Given the description of an element on the screen output the (x, y) to click on. 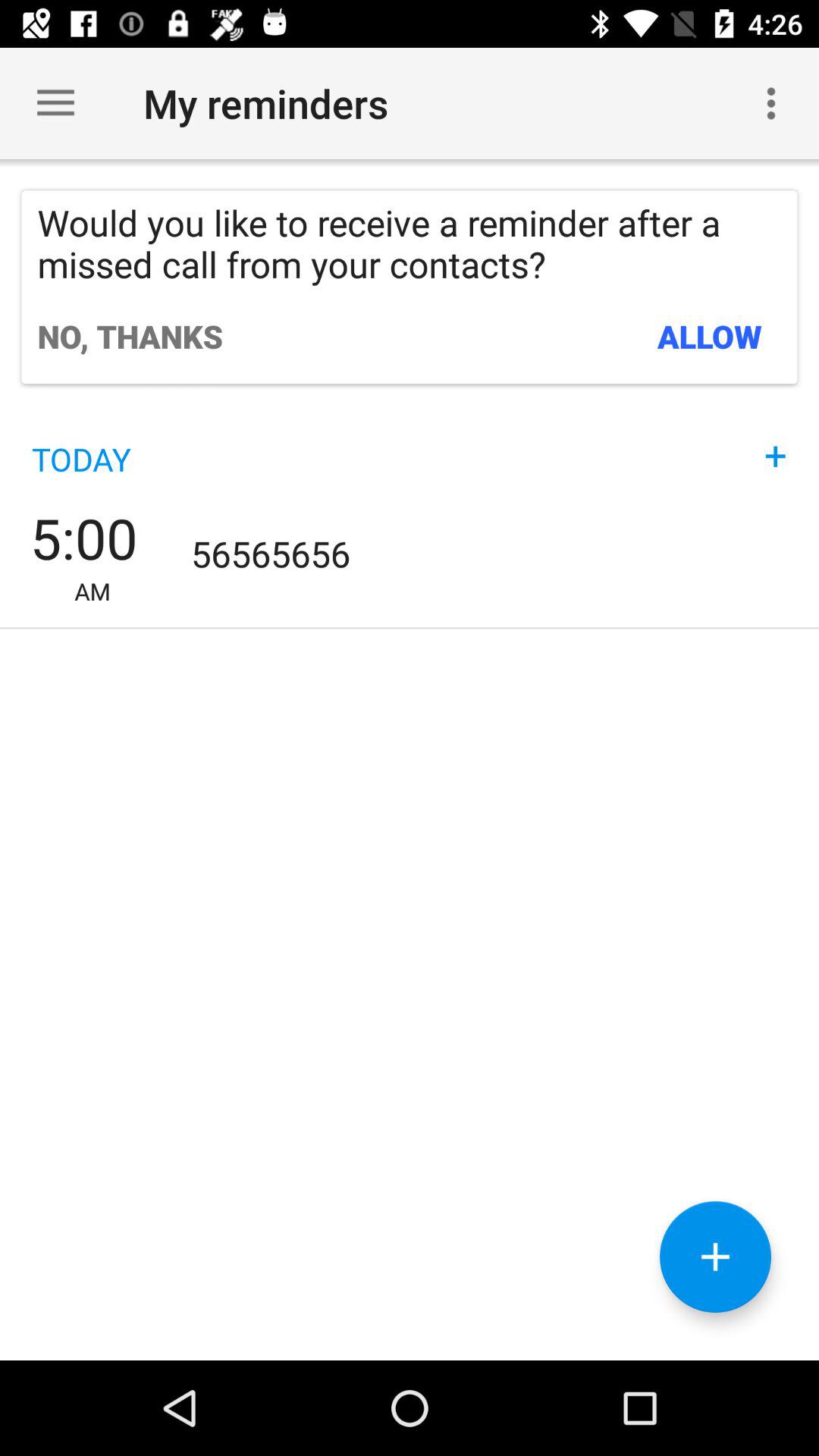
turn off item next to the allow (129, 335)
